Given the description of an element on the screen output the (x, y) to click on. 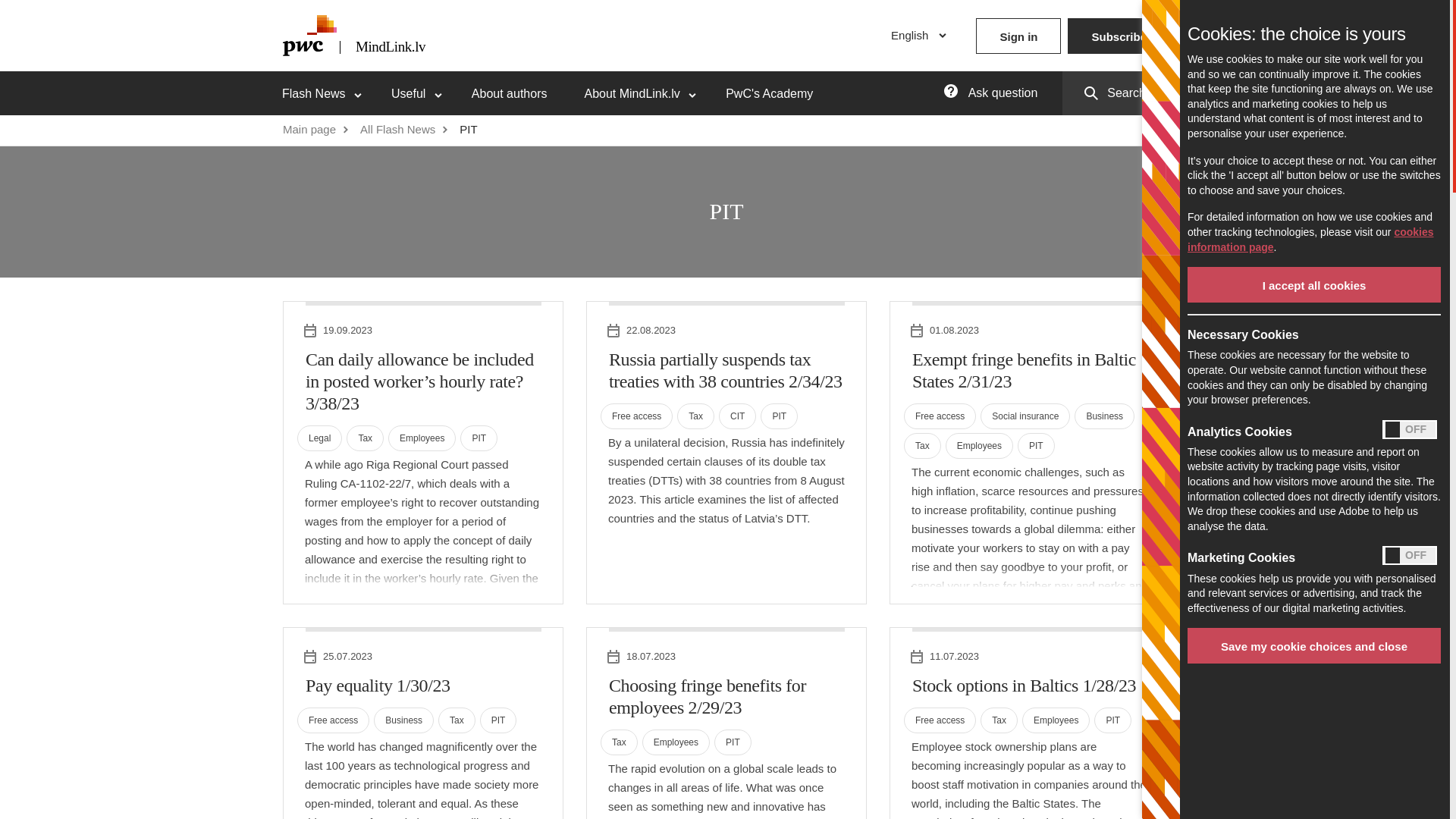
Subscribe (1118, 36)
Useful (425, 93)
English (917, 34)
Flash News (330, 93)
Sign in (1018, 36)
